Given the description of an element on the screen output the (x, y) to click on. 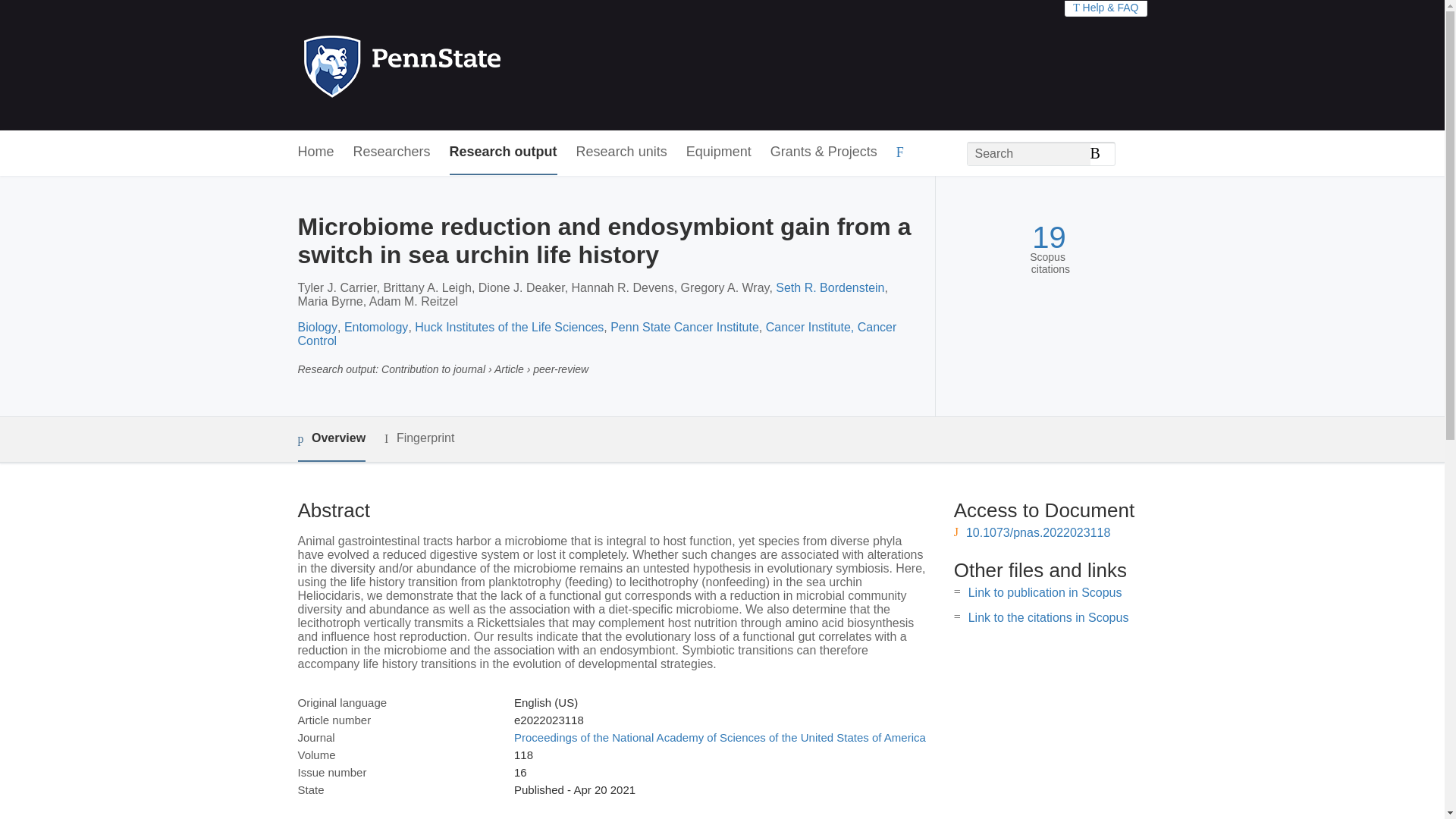
Cancer Institute, Cancer Control (596, 334)
Link to the citations in Scopus (1048, 617)
Penn State Home (467, 65)
Seth R. Bordenstein (829, 287)
Equipment (718, 152)
Biology (316, 327)
Entomology (376, 327)
Overview (331, 438)
Fingerprint (419, 438)
